Given the description of an element on the screen output the (x, y) to click on. 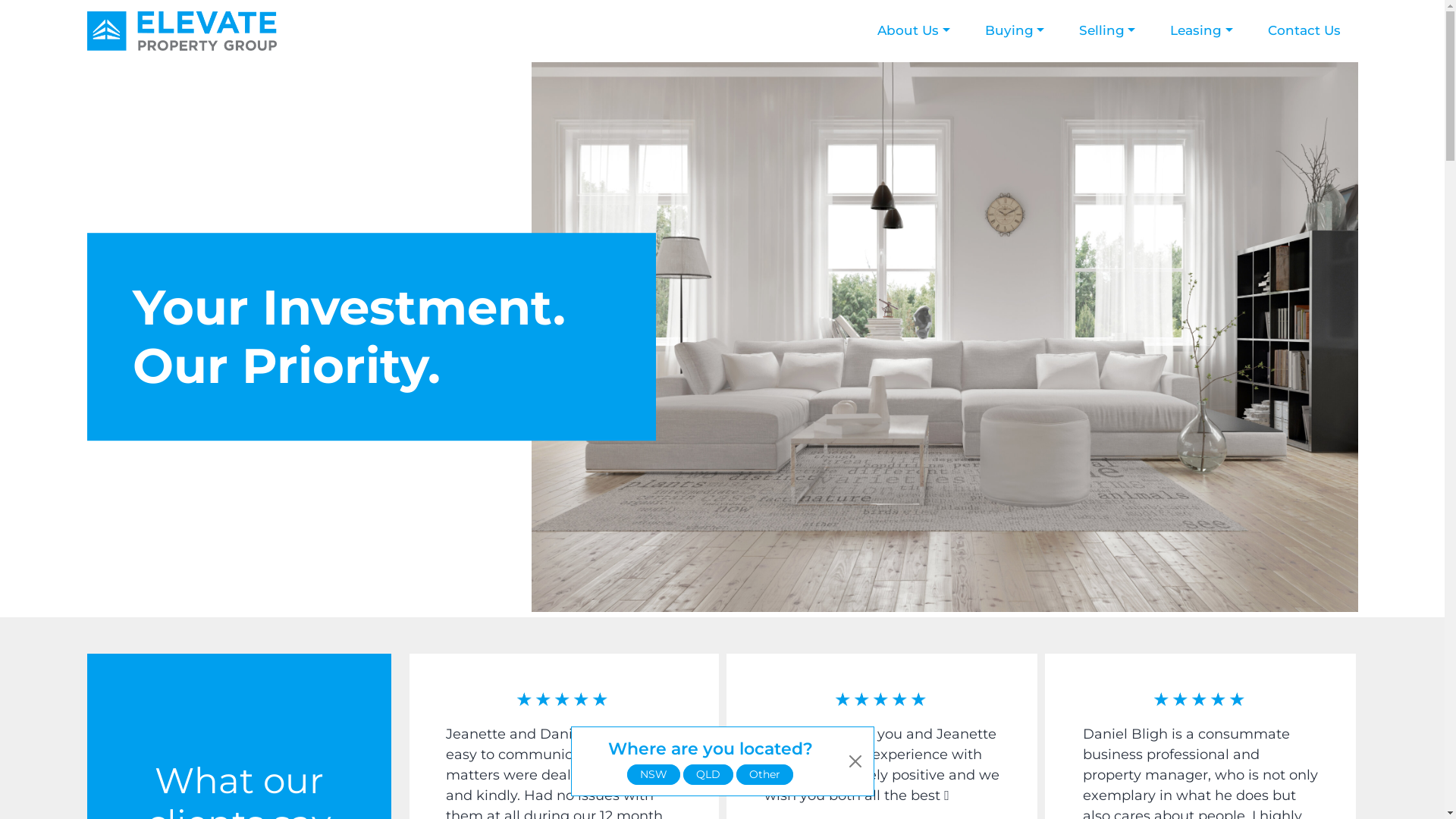
Other Element type: text (764, 774)
Leasing Element type: text (1201, 31)
Buying Element type: text (1014, 31)
NSW Element type: text (653, 774)
Contact Us Element type: text (1303, 31)
Selling Element type: text (1107, 31)
About Us Element type: text (913, 31)
QLD Element type: text (708, 774)
